Given the description of an element on the screen output the (x, y) to click on. 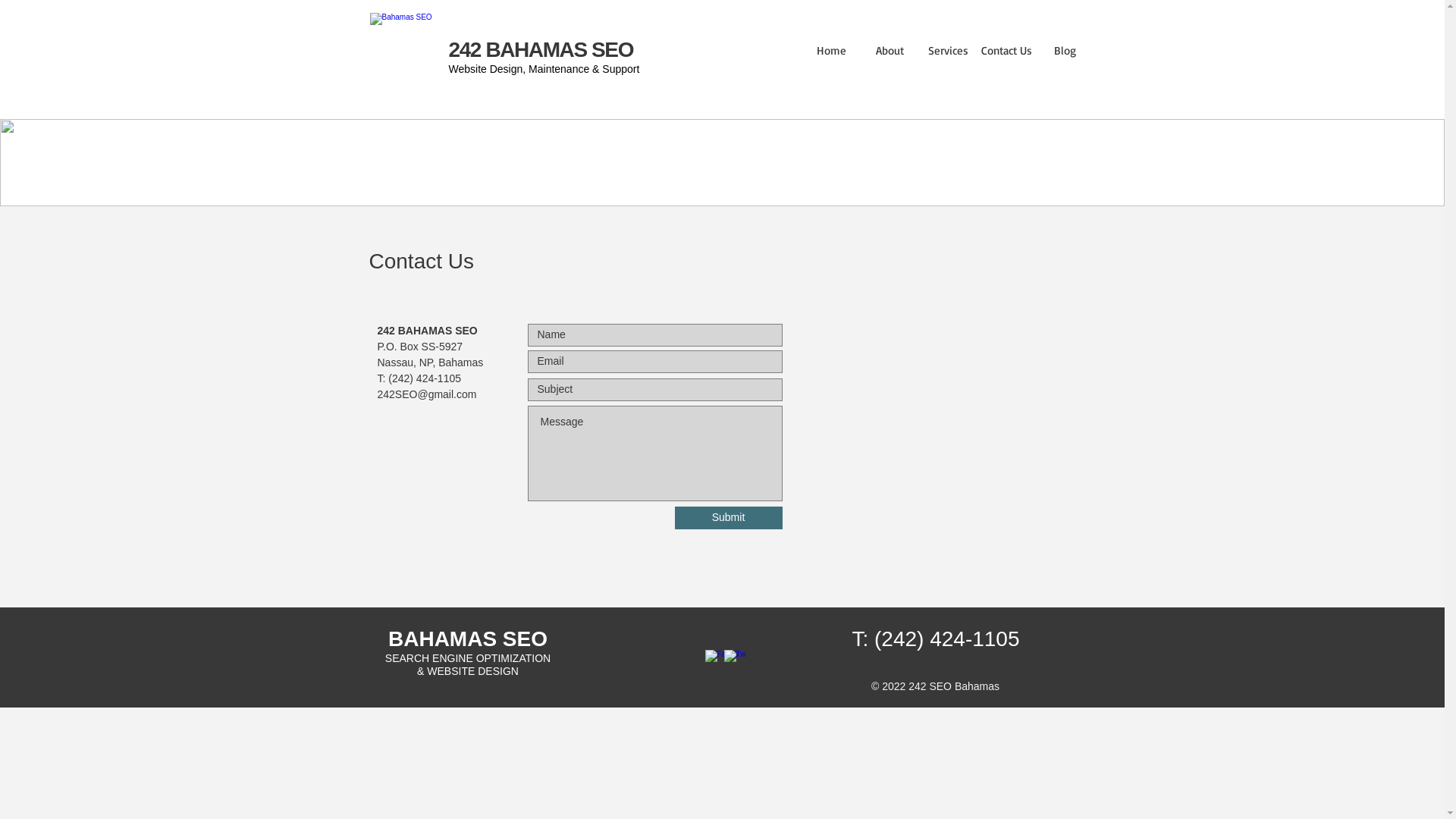
About Element type: text (889, 49)
242SEO@gmail.com Element type: text (426, 394)
Blog Element type: text (1063, 49)
Submit Element type: text (728, 517)
Contact Us Element type: text (1006, 49)
242 BAHAMAS SEO Element type: text (540, 49)
SEARCH ENGINE OPTIMIZATION & WEBSITE DESIGN Element type: text (467, 664)
Website Design, Maintenance & Support Element type: text (544, 68)
BAHAMAS SEO Element type: text (467, 638)
Google Maps Element type: hover (938, 412)
Services Element type: text (947, 49)
Home Element type: text (830, 49)
